Given the description of an element on the screen output the (x, y) to click on. 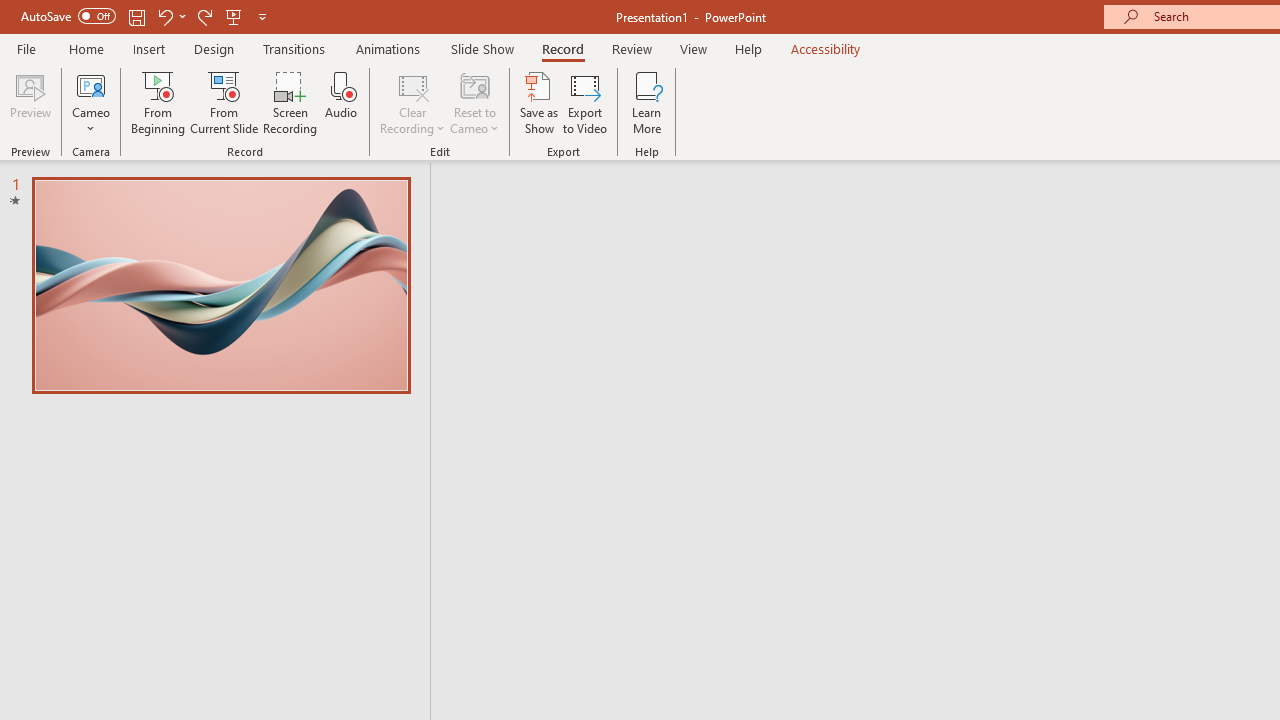
Cameo (91, 84)
Reset to Cameo (474, 102)
Learn More (646, 102)
